Given the description of an element on the screen output the (x, y) to click on. 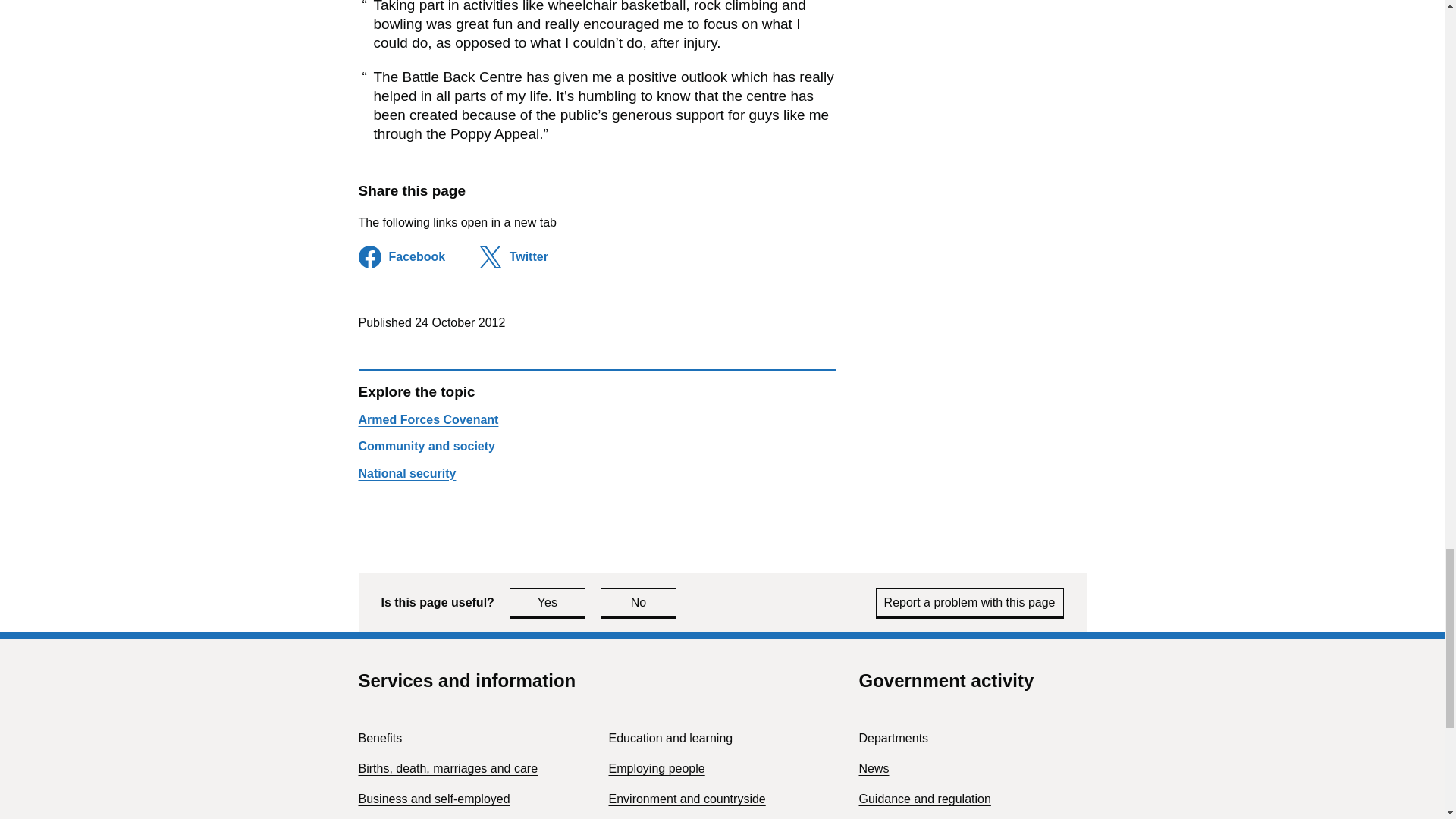
Births, death, marriages and care (447, 768)
Benefits (379, 738)
Report a problem with this page (970, 602)
Business and self-employed (433, 798)
Community and society (547, 602)
Armed Forces Covenant (426, 445)
Guidance and regulation (427, 419)
News (924, 798)
Departments (873, 768)
National security (893, 738)
Environment and countryside (406, 472)
Education and learning (686, 798)
Employing people (670, 738)
